Given the description of an element on the screen output the (x, y) to click on. 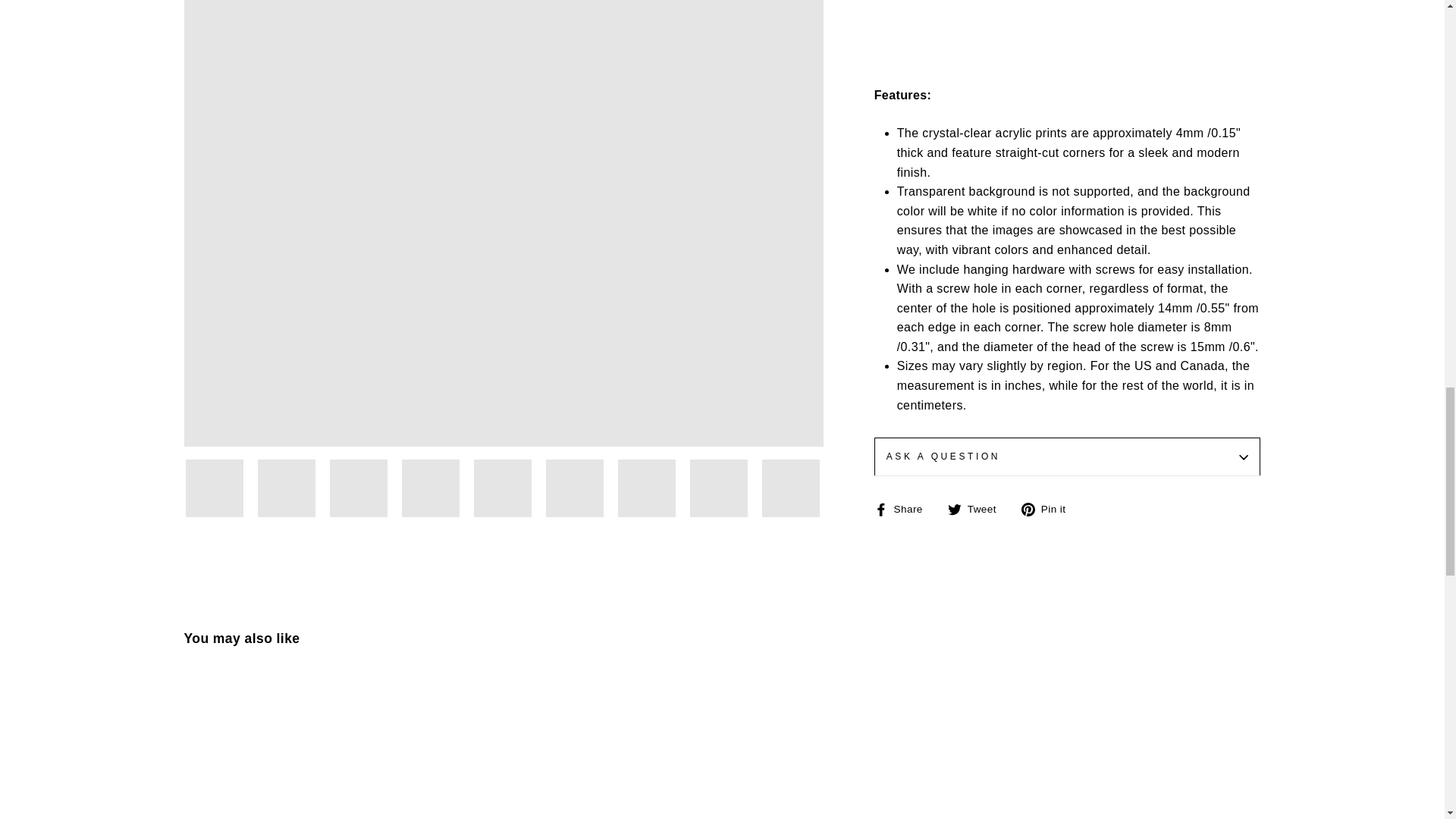
Tweet on Twitter (977, 508)
Share on Facebook (904, 508)
Pin on Pinterest (1049, 508)
